Given the description of an element on the screen output the (x, y) to click on. 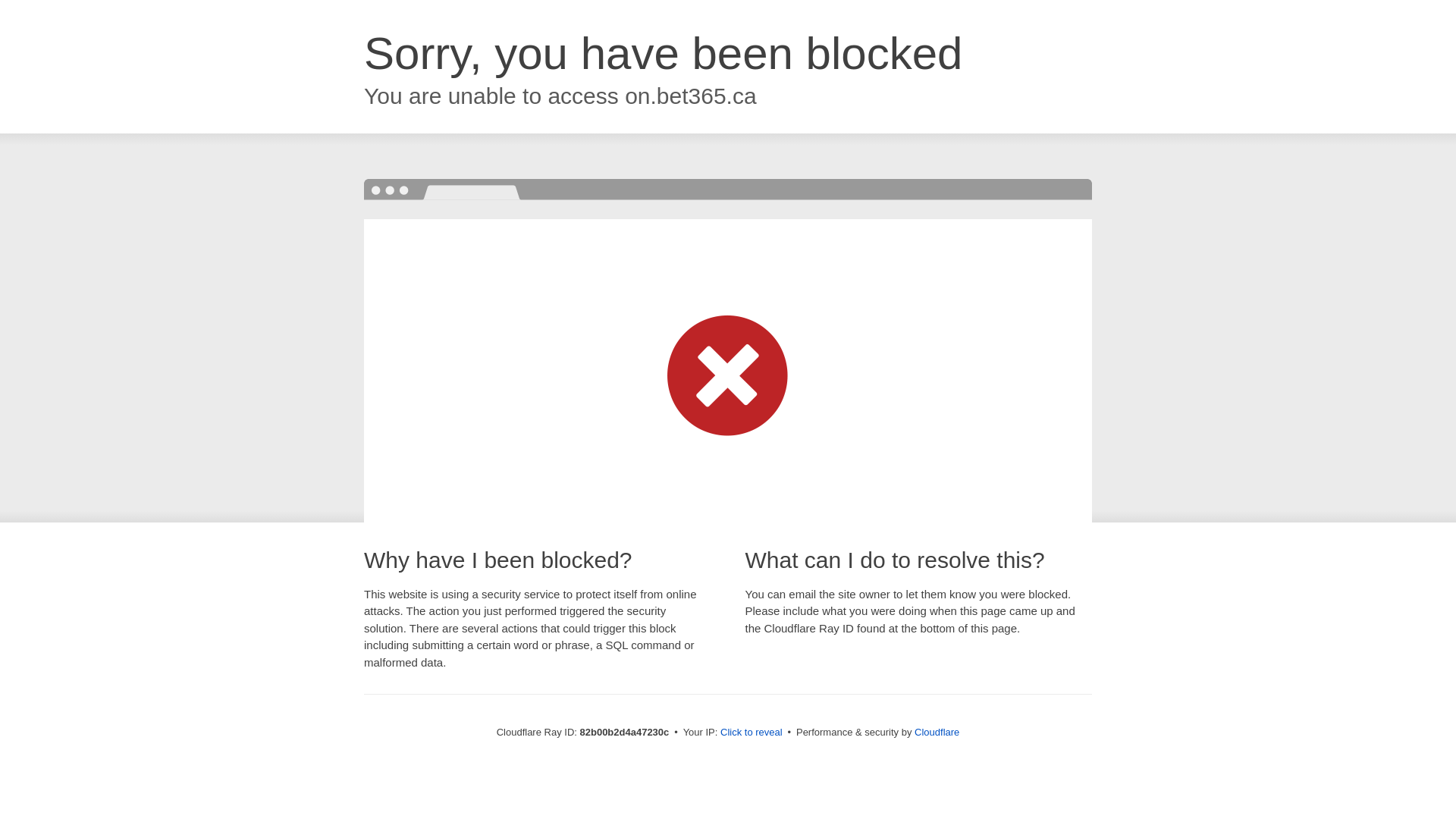
Click to reveal Element type: text (751, 732)
Cloudflare Element type: text (936, 731)
